Given the description of an element on the screen output the (x, y) to click on. 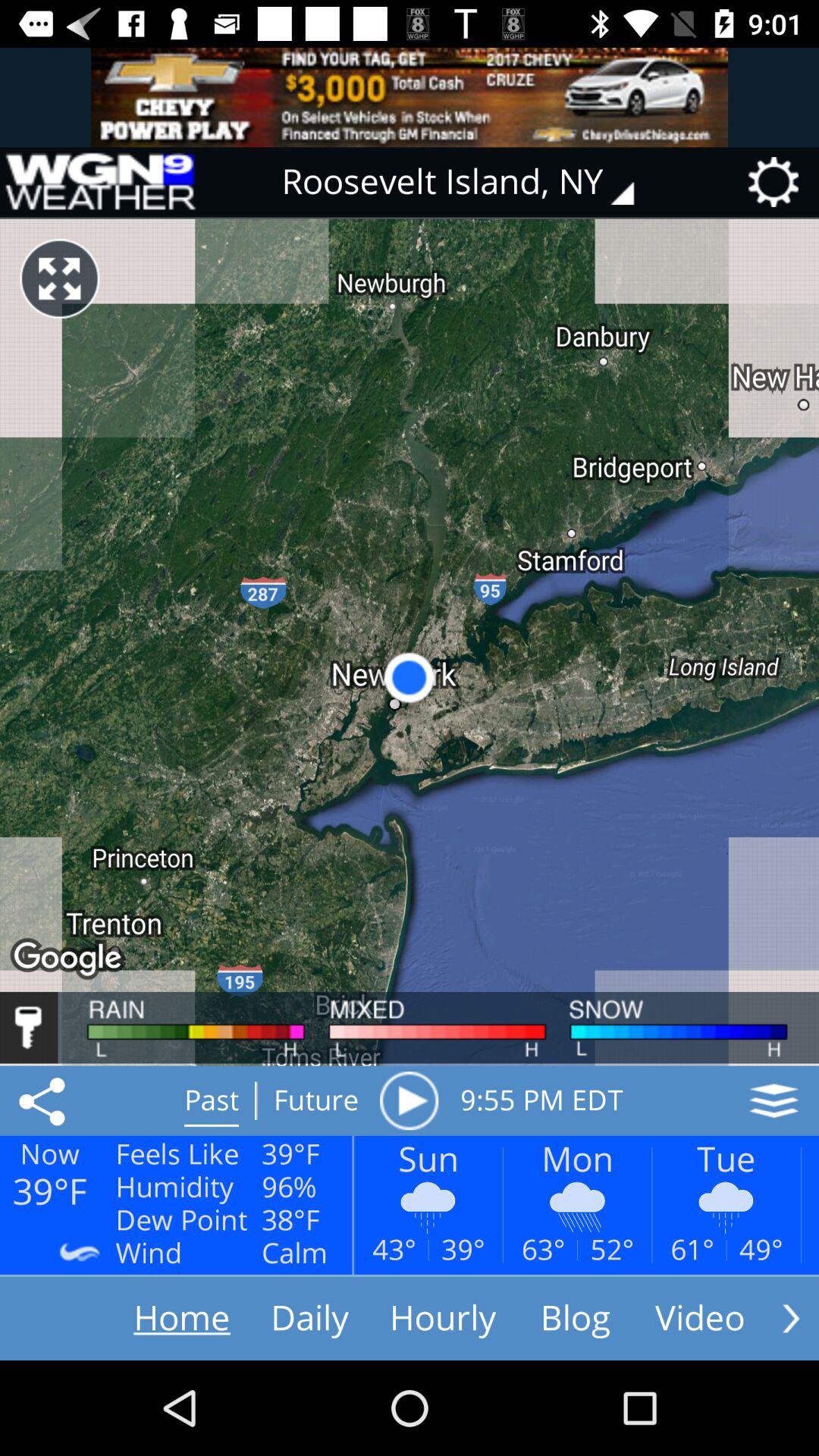
see more (791, 1318)
